Given the description of an element on the screen output the (x, y) to click on. 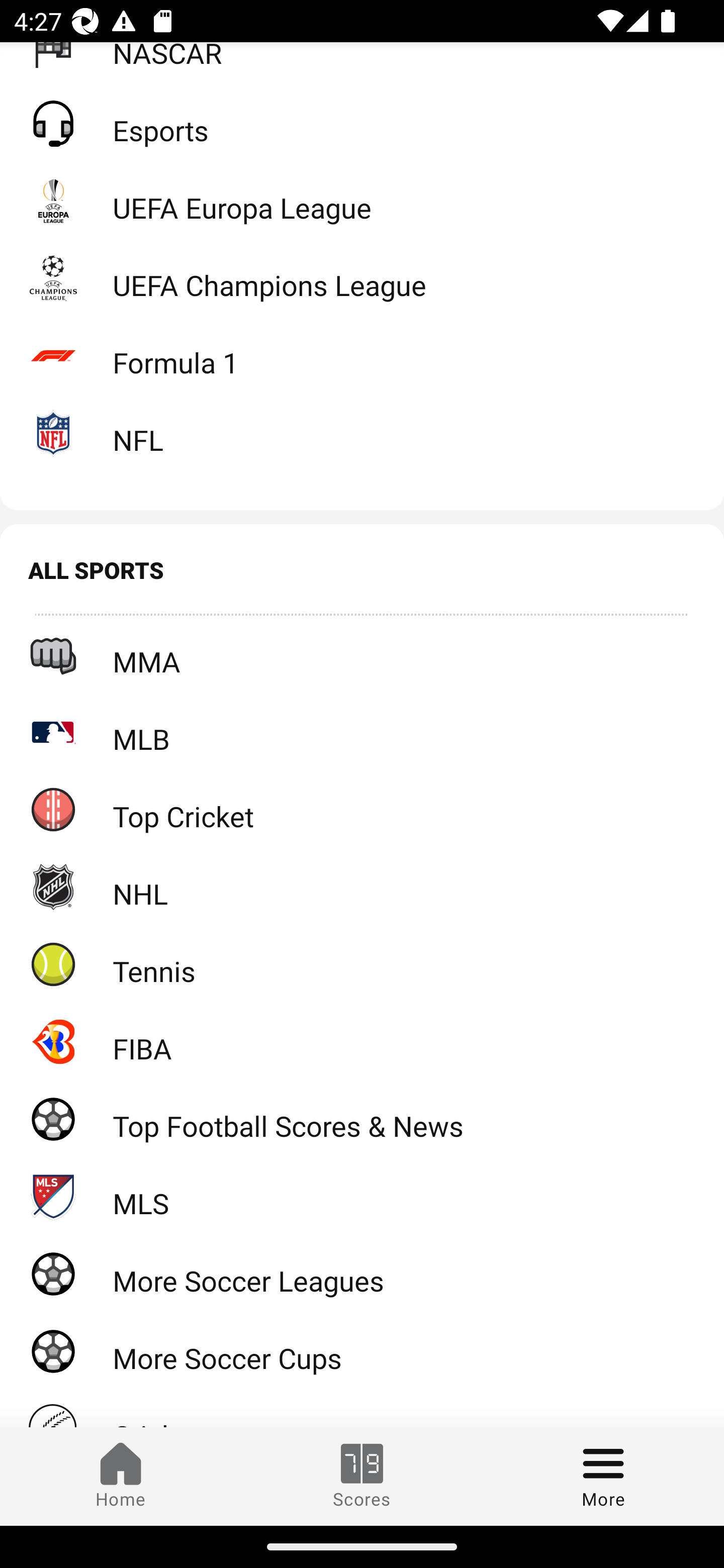
Esports (362, 122)
UEFA Europa League (362, 200)
UEFA Champions League (362, 277)
Formula 1 (362, 354)
NFL (362, 432)
MMA (362, 654)
MLB (362, 731)
Top Cricket (362, 808)
NHL (362, 886)
Tennis (362, 963)
FIBA  (362, 1040)
Top Football Scores & News (362, 1118)
MLS (362, 1196)
More Soccer Leagues (362, 1273)
More Soccer Cups (362, 1350)
Home (120, 1475)
Scores (361, 1475)
